Given the description of an element on the screen output the (x, y) to click on. 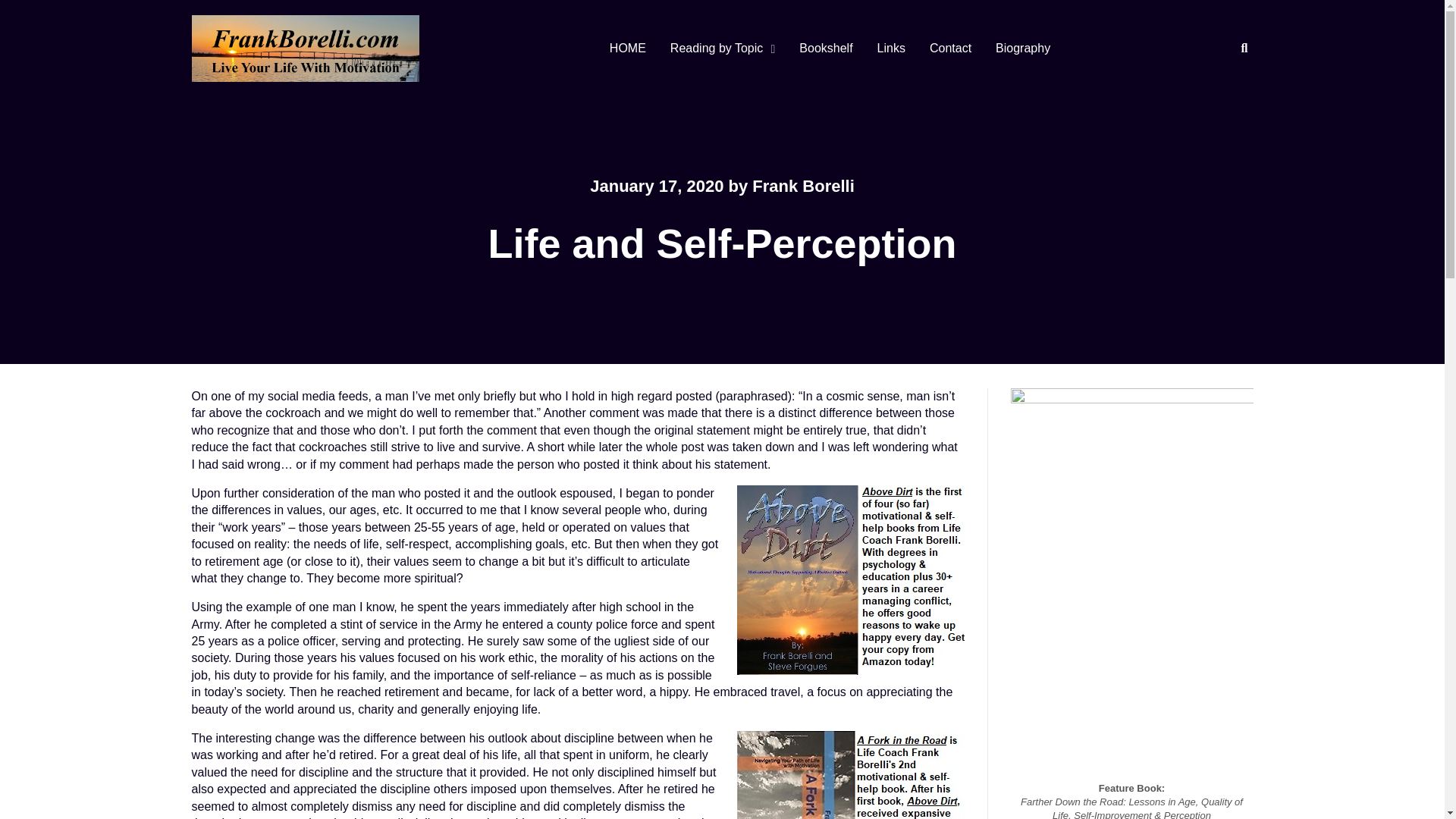
Search (1229, 101)
Bookshelf (825, 48)
Reading by Topic (719, 48)
Contact (950, 48)
Links (890, 48)
HOME (627, 48)
Biography (1023, 48)
Links (890, 48)
